Given the description of an element on the screen output the (x, y) to click on. 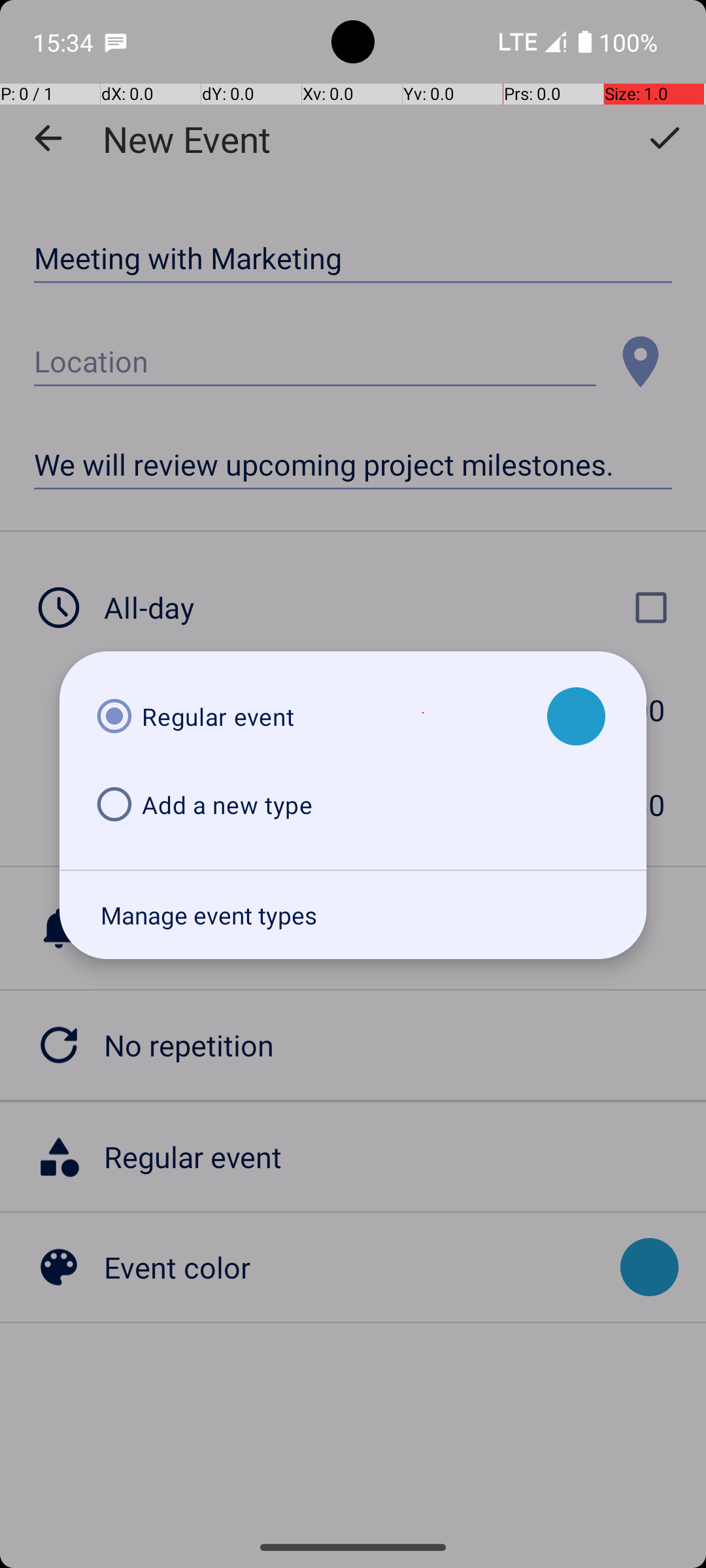
Add a new type Element type: android.widget.RadioButton (309, 804)
